Given the description of an element on the screen output the (x, y) to click on. 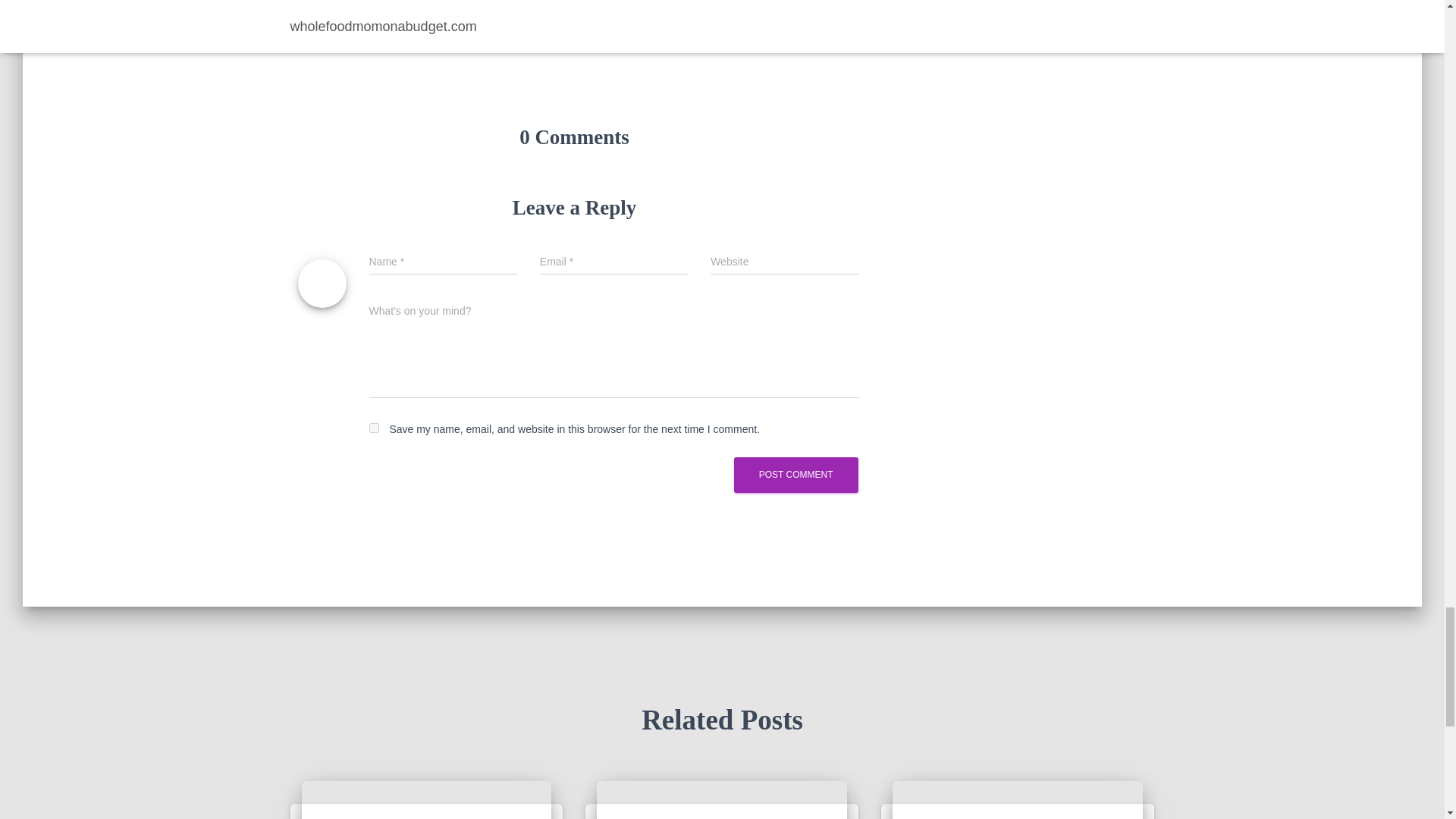
food you eat with your hands (721, 800)
yes (373, 428)
food deals today (426, 800)
local cuisine (323, 9)
Post Comment (796, 475)
food utc (1017, 800)
Post Comment (796, 475)
Yukon Territory (394, 9)
